Given the description of an element on the screen output the (x, y) to click on. 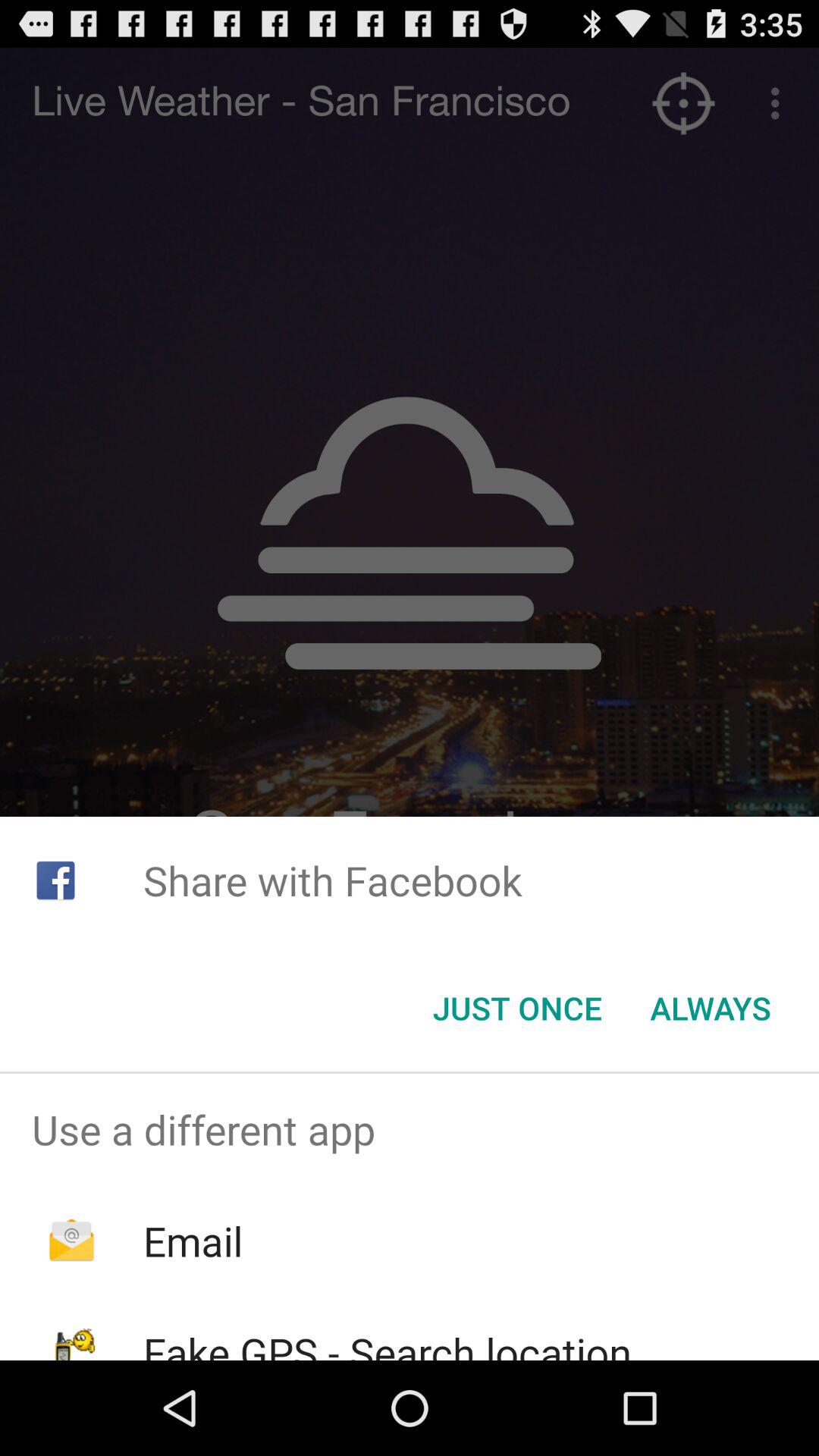
turn on icon next to the just once button (710, 1007)
